Given the description of an element on the screen output the (x, y) to click on. 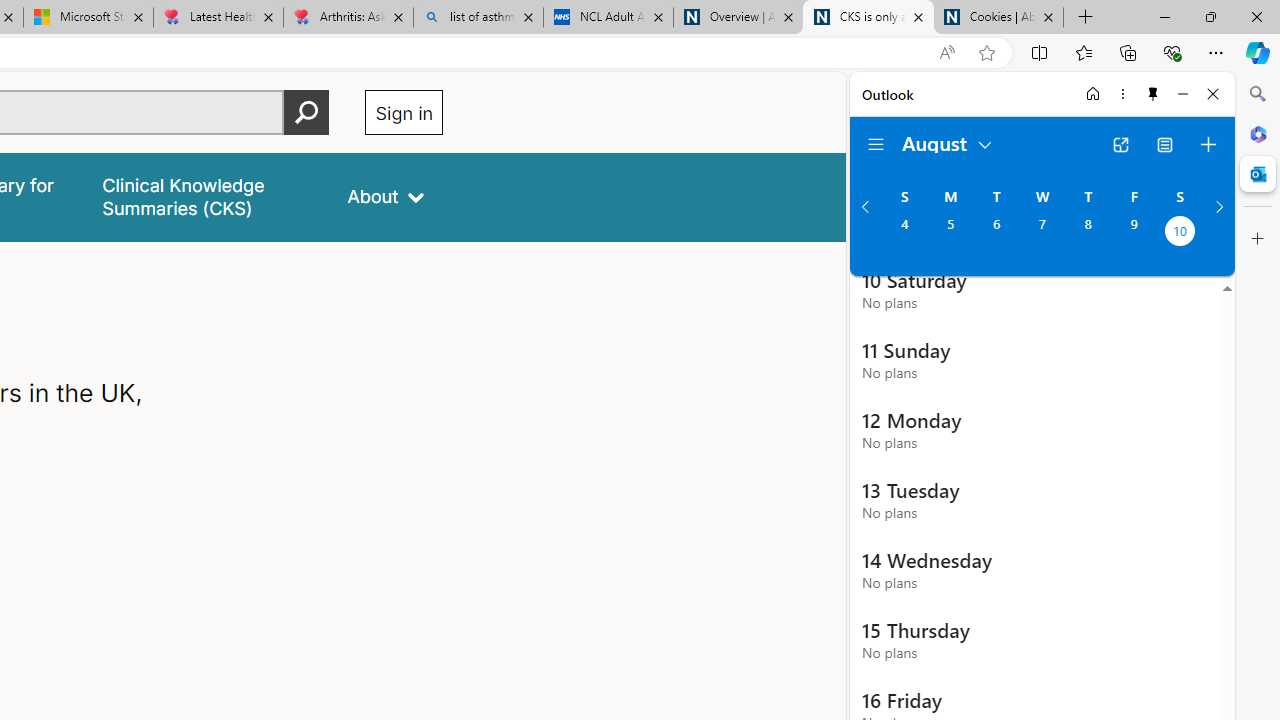
Sign in (404, 112)
Create event (1208, 144)
Thursday, August 8, 2024.  (1088, 233)
false (207, 196)
About (386, 196)
Split screen (1039, 52)
